Given the description of an element on the screen output the (x, y) to click on. 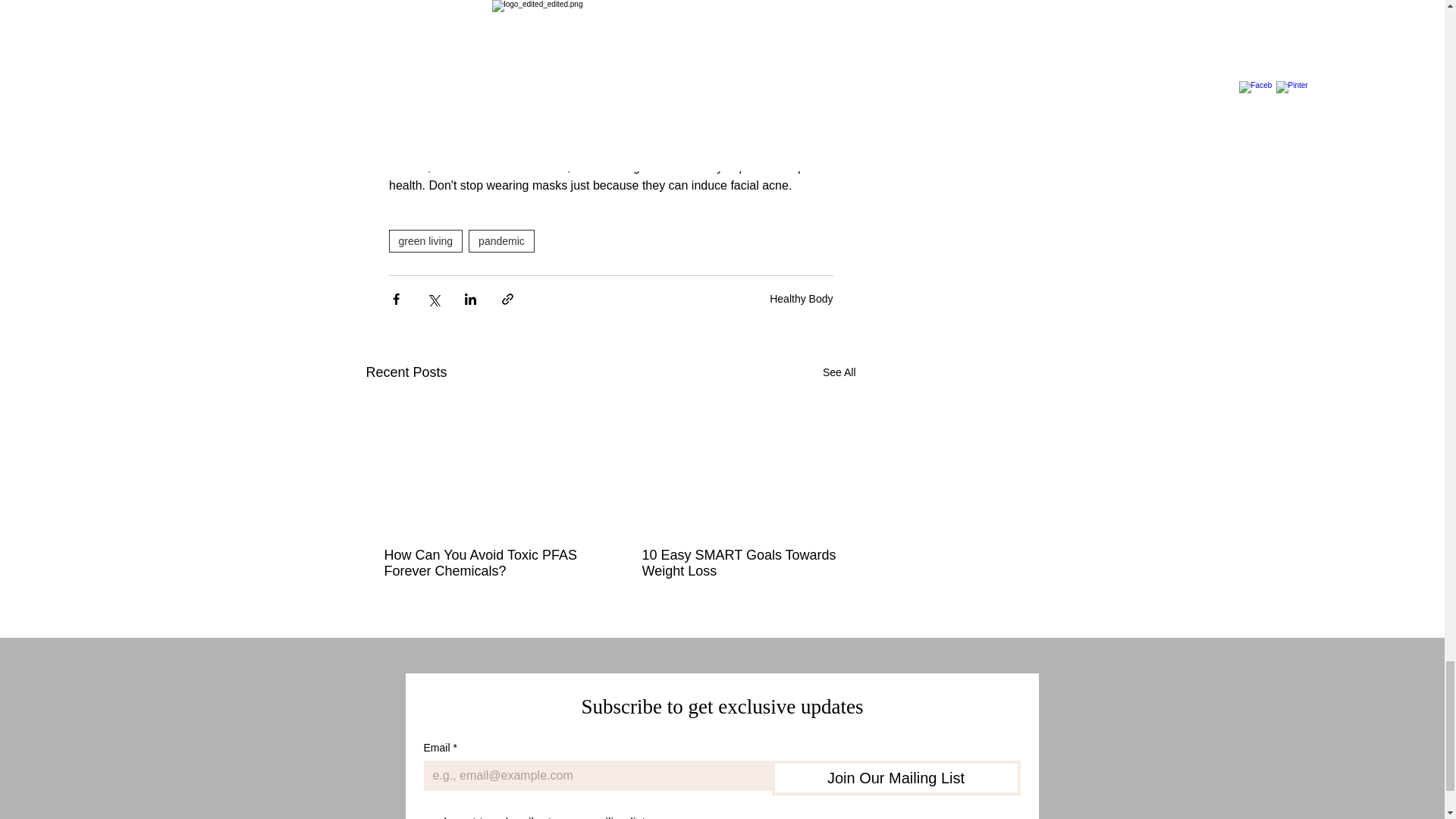
10 Easy SMART Goals Towards Weight Loss (739, 563)
Join Our Mailing List (895, 777)
See All (839, 372)
pandemic (501, 241)
green living (425, 241)
Healthy Body (801, 298)
How Can You Avoid Toxic PFAS Forever Chemicals? (481, 563)
